Given the description of an element on the screen output the (x, y) to click on. 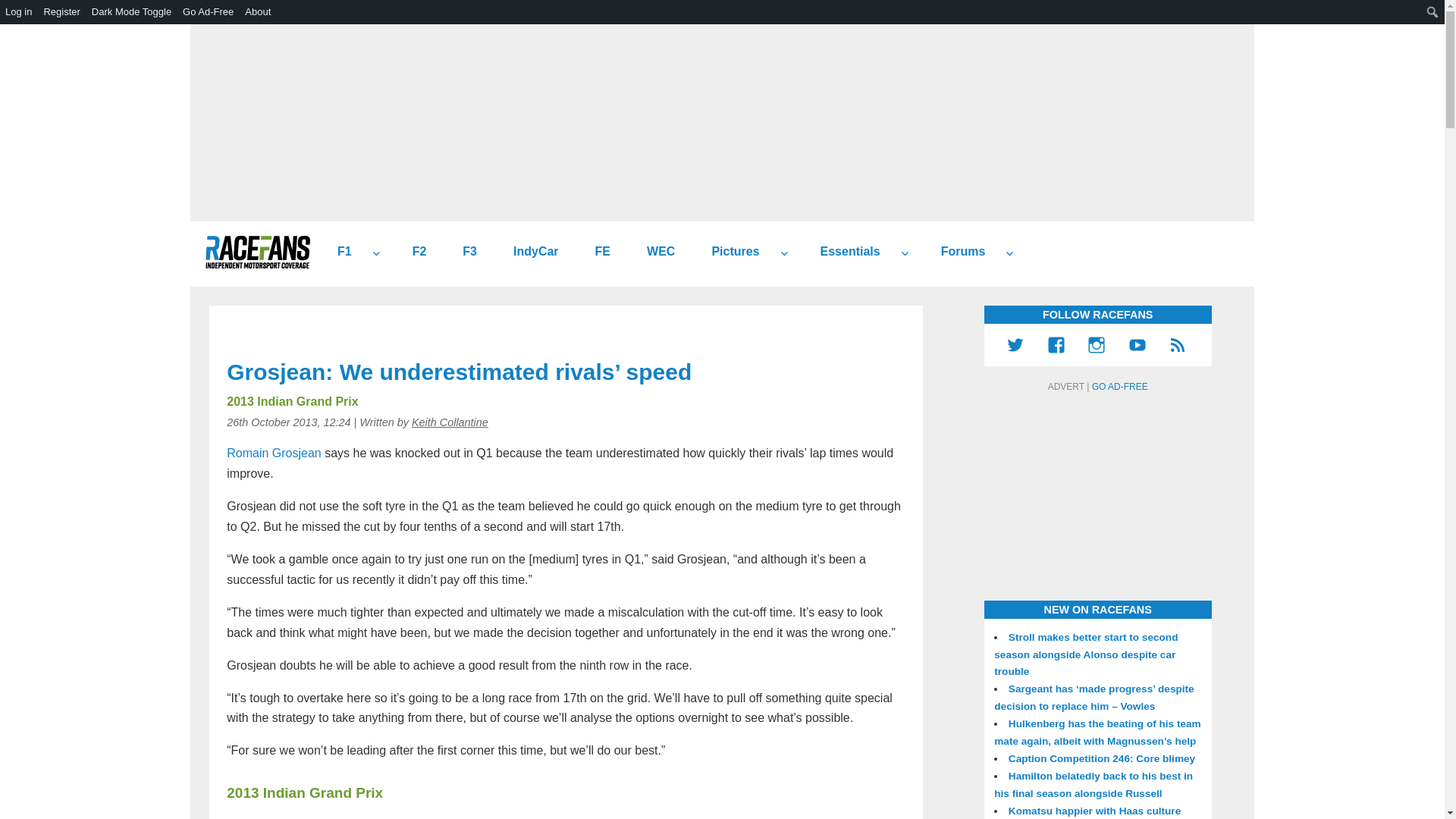
IndyCar (529, 251)
F2 (413, 251)
World Endurance Championship (655, 251)
Formula 2 (413, 251)
Formula 3 (463, 251)
FE (596, 251)
IndyCar (529, 251)
Essentials (844, 251)
RaceFans (257, 252)
expand child menu (783, 253)
Pictures (729, 251)
expand child menu (376, 253)
F1 (338, 251)
Formula 1 (338, 251)
Formula E (596, 251)
